Given the description of an element on the screen output the (x, y) to click on. 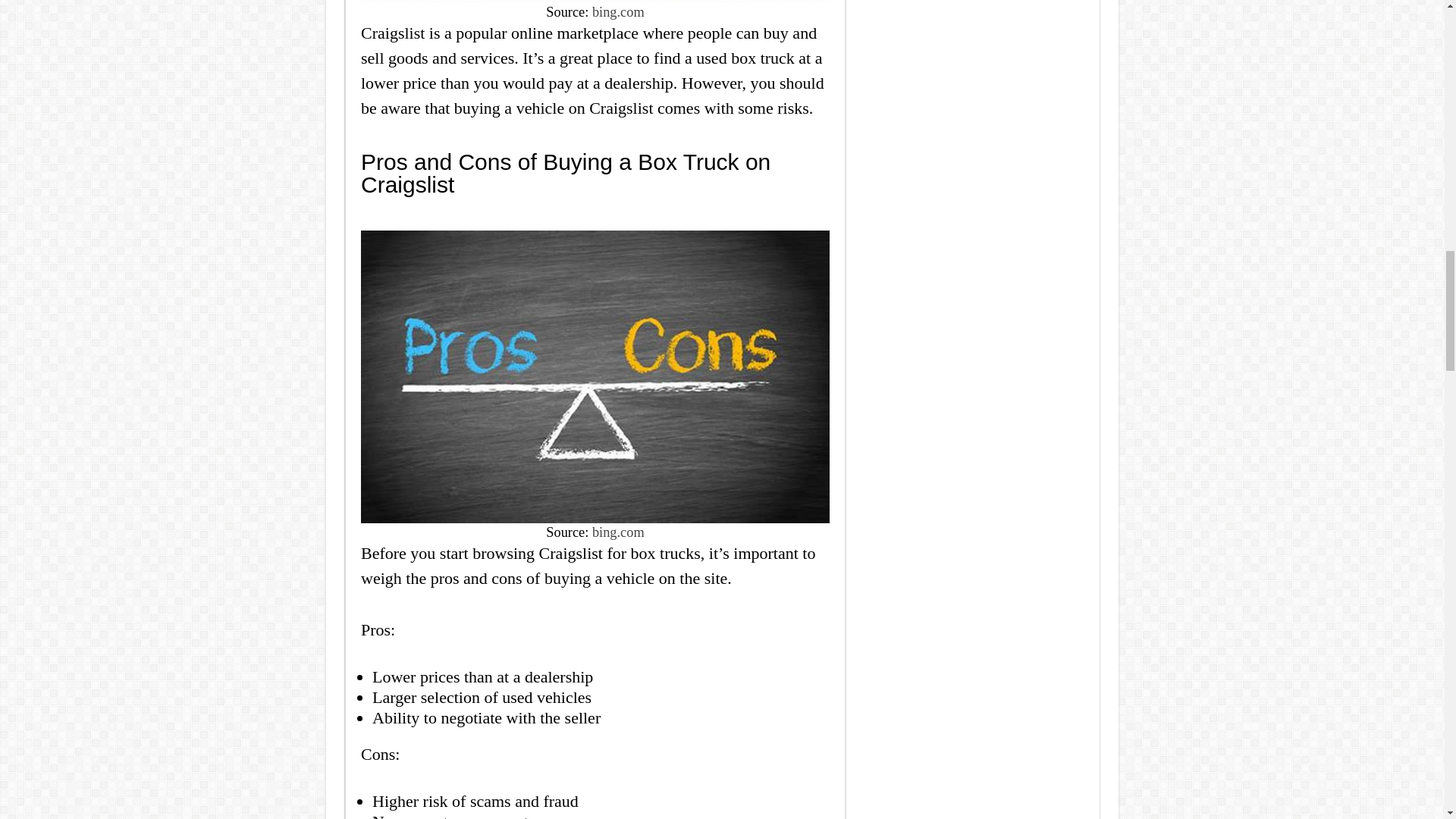
bing.com (618, 11)
bing.com (618, 531)
